Given the description of an element on the screen output the (x, y) to click on. 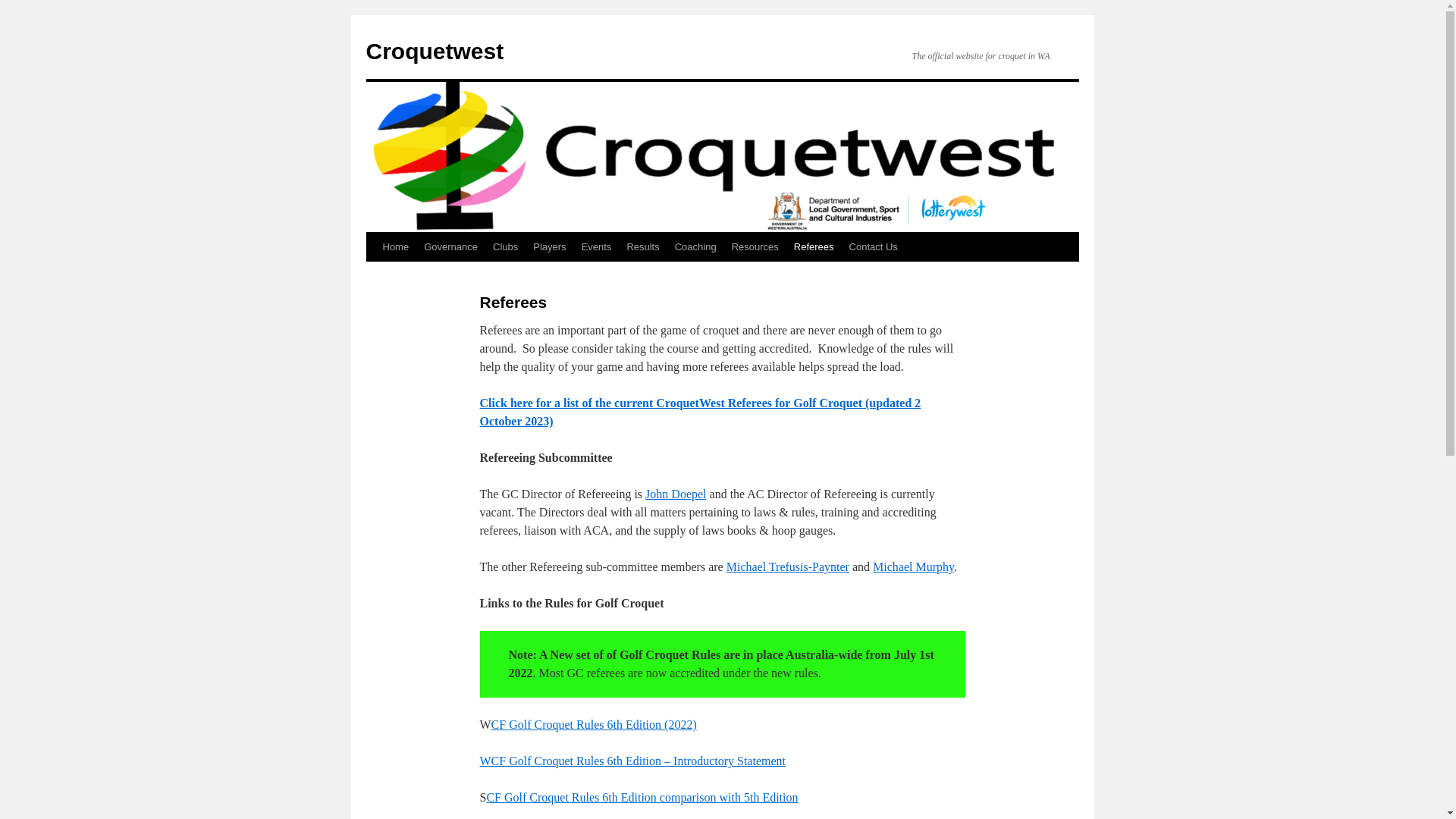
Skip to content Element type: text (372, 275)
Results Element type: text (642, 246)
CF Golf Croquet Rules 6th Edition (2022) Element type: text (593, 724)
Players Element type: text (549, 246)
Clubs Element type: text (505, 246)
Events Element type: text (596, 246)
Referees Element type: text (813, 246)
Home Element type: text (395, 246)
John Doepel Element type: text (675, 493)
Resources Element type: text (755, 246)
Croquetwest Element type: text (434, 50)
Contact Us Element type: text (873, 246)
Michael Murphy Element type: text (912, 566)
Coaching Element type: text (695, 246)
Governance Element type: text (450, 246)
Michael Trefusis-Paynter Element type: text (787, 566)
